Given the description of an element on the screen output the (x, y) to click on. 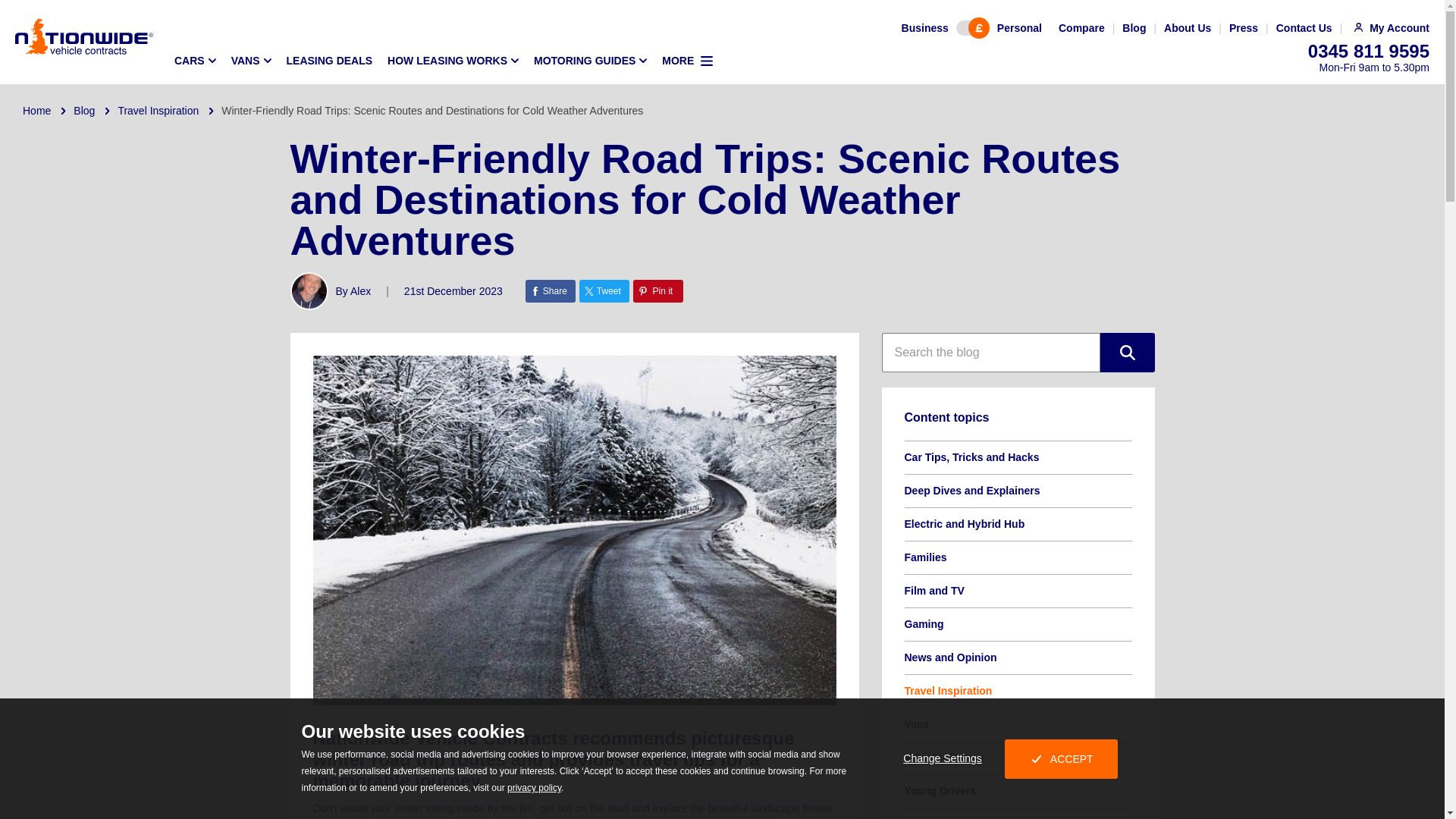
Home (36, 110)
About Us (1187, 28)
CARS (194, 60)
Compare (1081, 28)
Contact Us (1304, 28)
Press (1242, 28)
My Account (1389, 28)
Blog (1133, 28)
Personal (1019, 28)
Travel Inspiration (157, 110)
Business (924, 28)
Blog (84, 110)
